Given the description of an element on the screen output the (x, y) to click on. 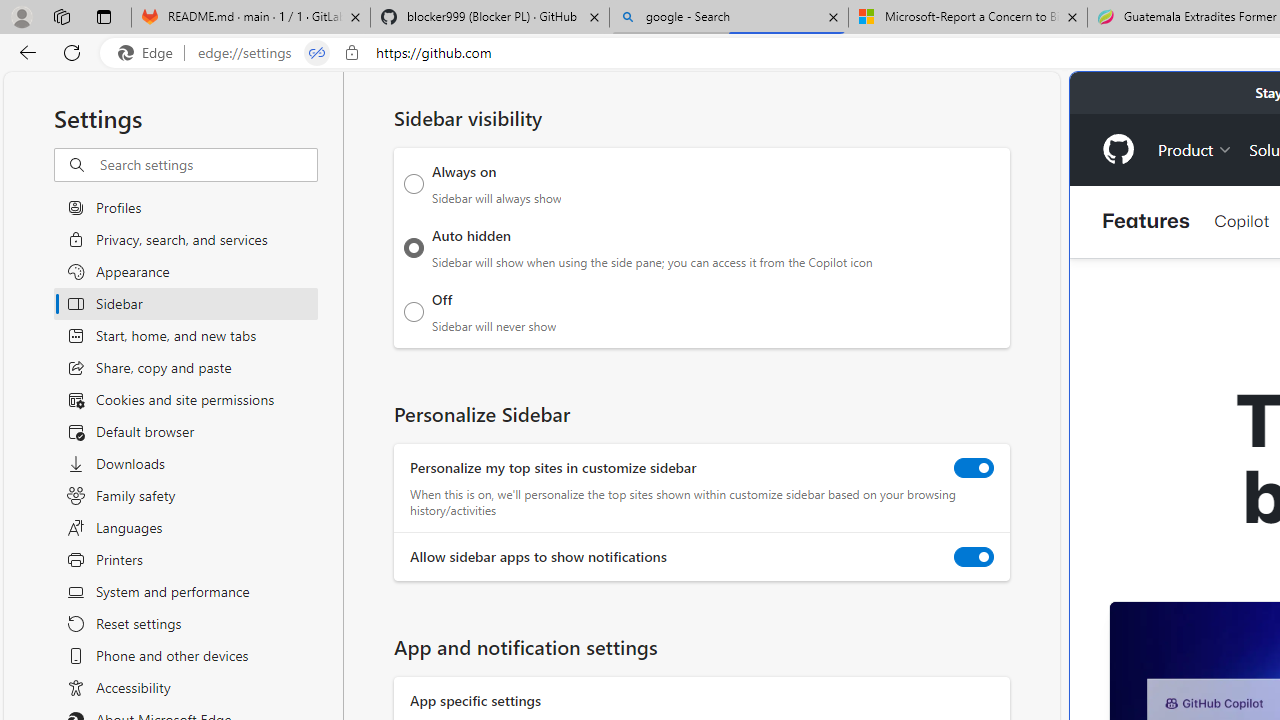
Allow sidebar apps to show notifications (973, 557)
Edge (150, 53)
Product (1195, 148)
